Given the description of an element on the screen output the (x, y) to click on. 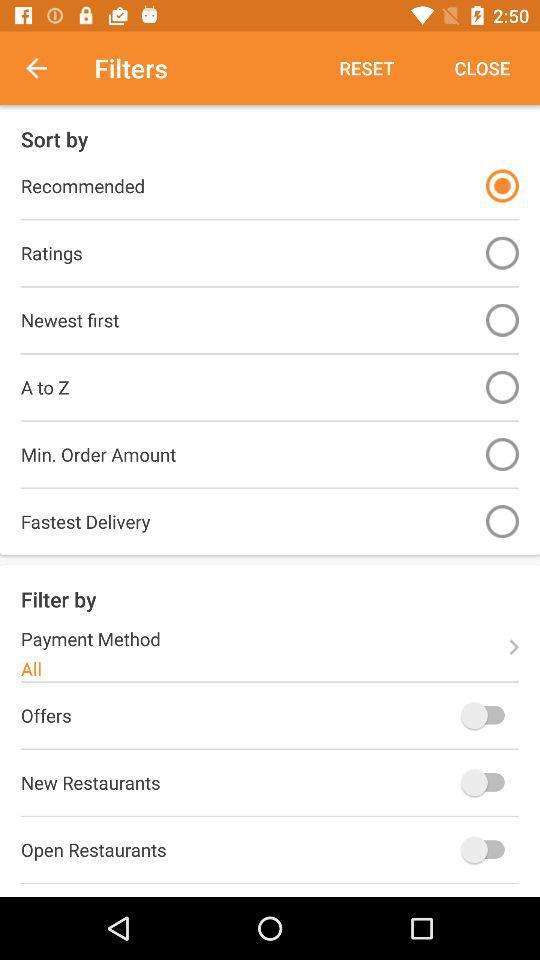
select minimum order amount (502, 454)
